Given the description of an element on the screen output the (x, y) to click on. 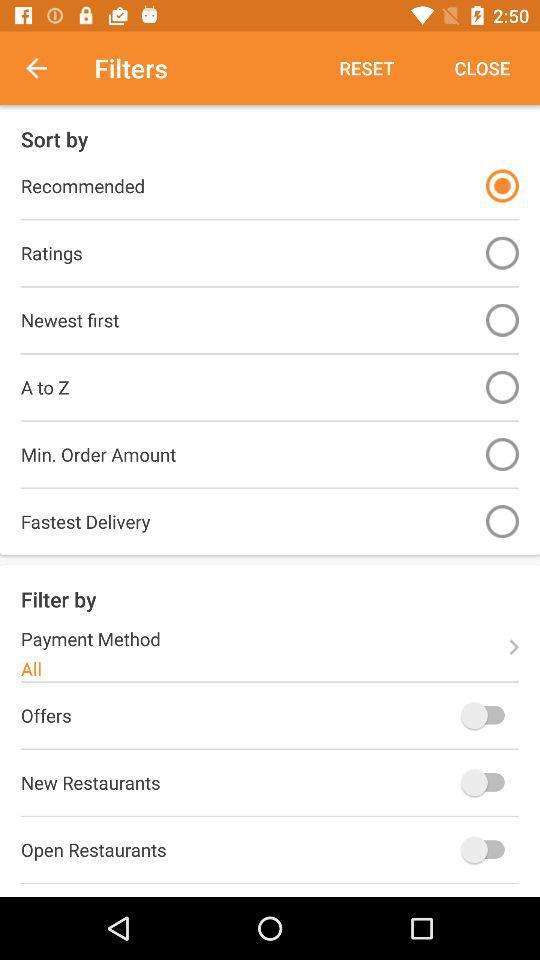
select minimum order amount (502, 454)
